Given the description of an element on the screen output the (x, y) to click on. 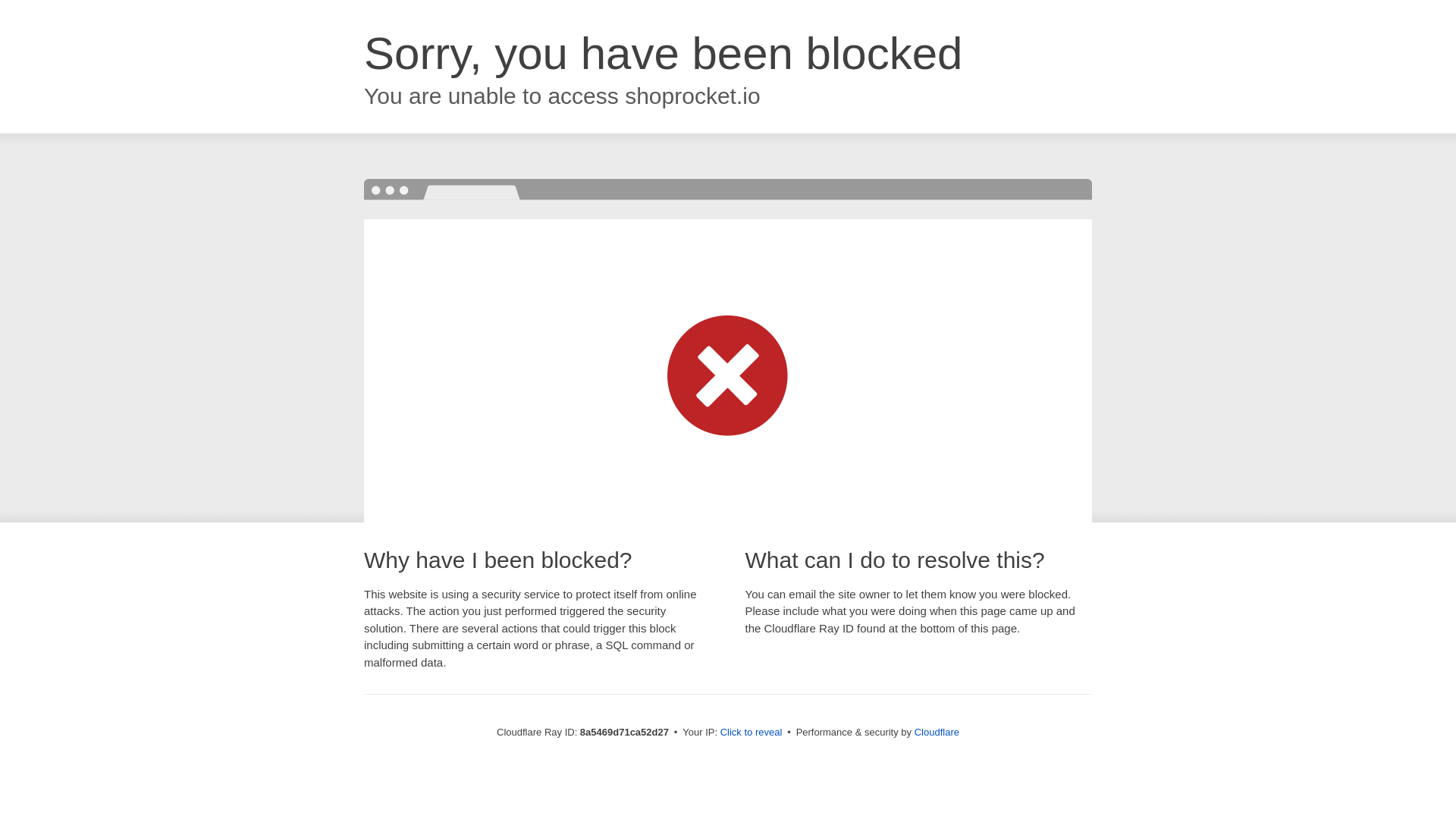
Click to reveal (751, 732)
Cloudflare (936, 731)
